Given the description of an element on the screen output the (x, y) to click on. 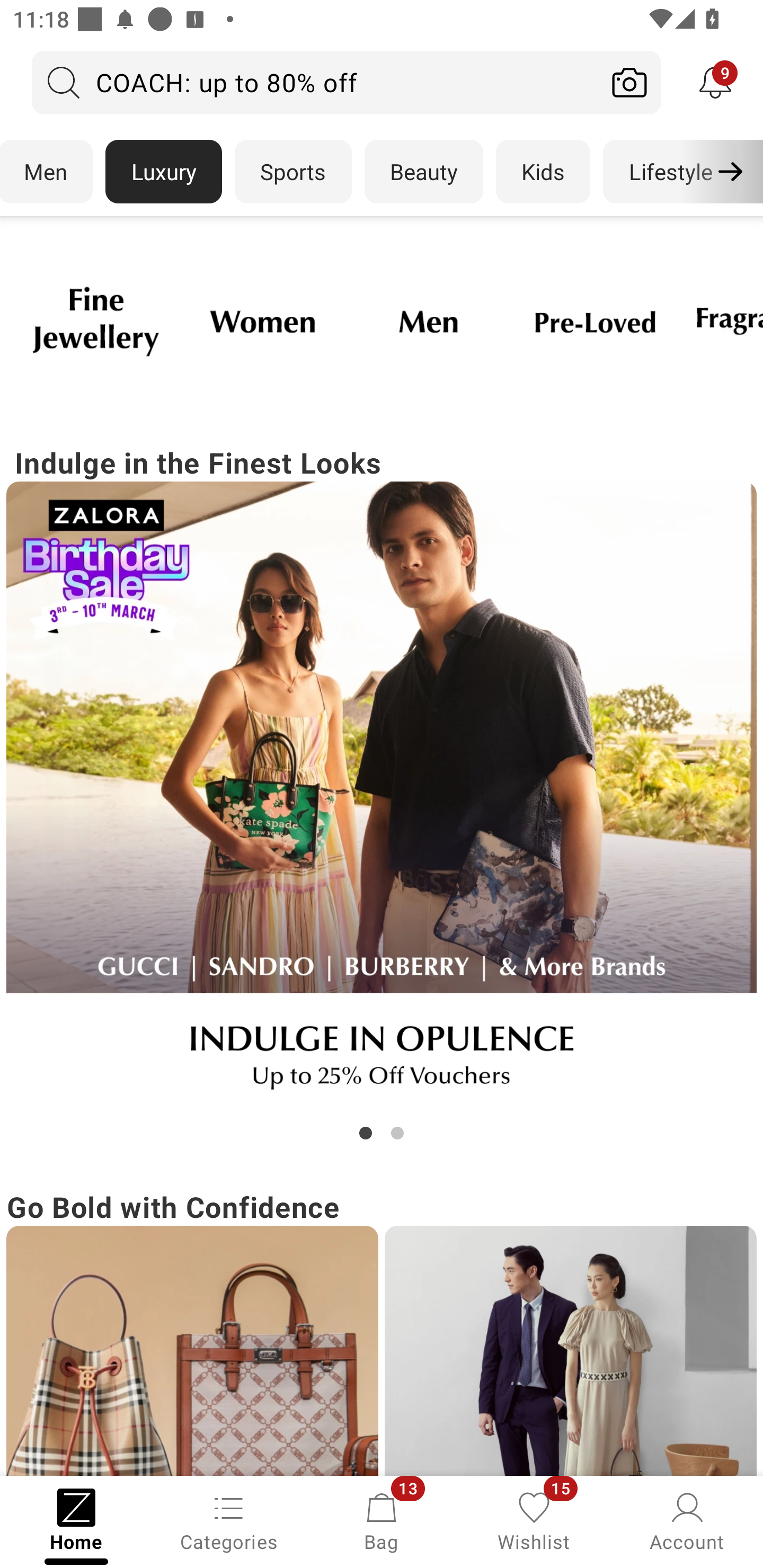
COACH: up to 80% off (314, 82)
Men (46, 171)
Luxury (163, 171)
Sports (293, 171)
Beauty (423, 171)
Kids (542, 171)
Lifestyle (669, 171)
Campaign banner (95, 321)
Campaign banner (261, 321)
Campaign banner (428, 321)
Campaign banner (594, 321)
 Indulge in the Finest Looks Campaign banner (381, 792)
Campaign banner (381, 797)
Campaign banner (192, 1350)
Campaign banner (570, 1350)
Categories (228, 1519)
Bag, 13 new notifications Bag (381, 1519)
Wishlist, 15 new notifications Wishlist (533, 1519)
Account (686, 1519)
